Given the description of an element on the screen output the (x, y) to click on. 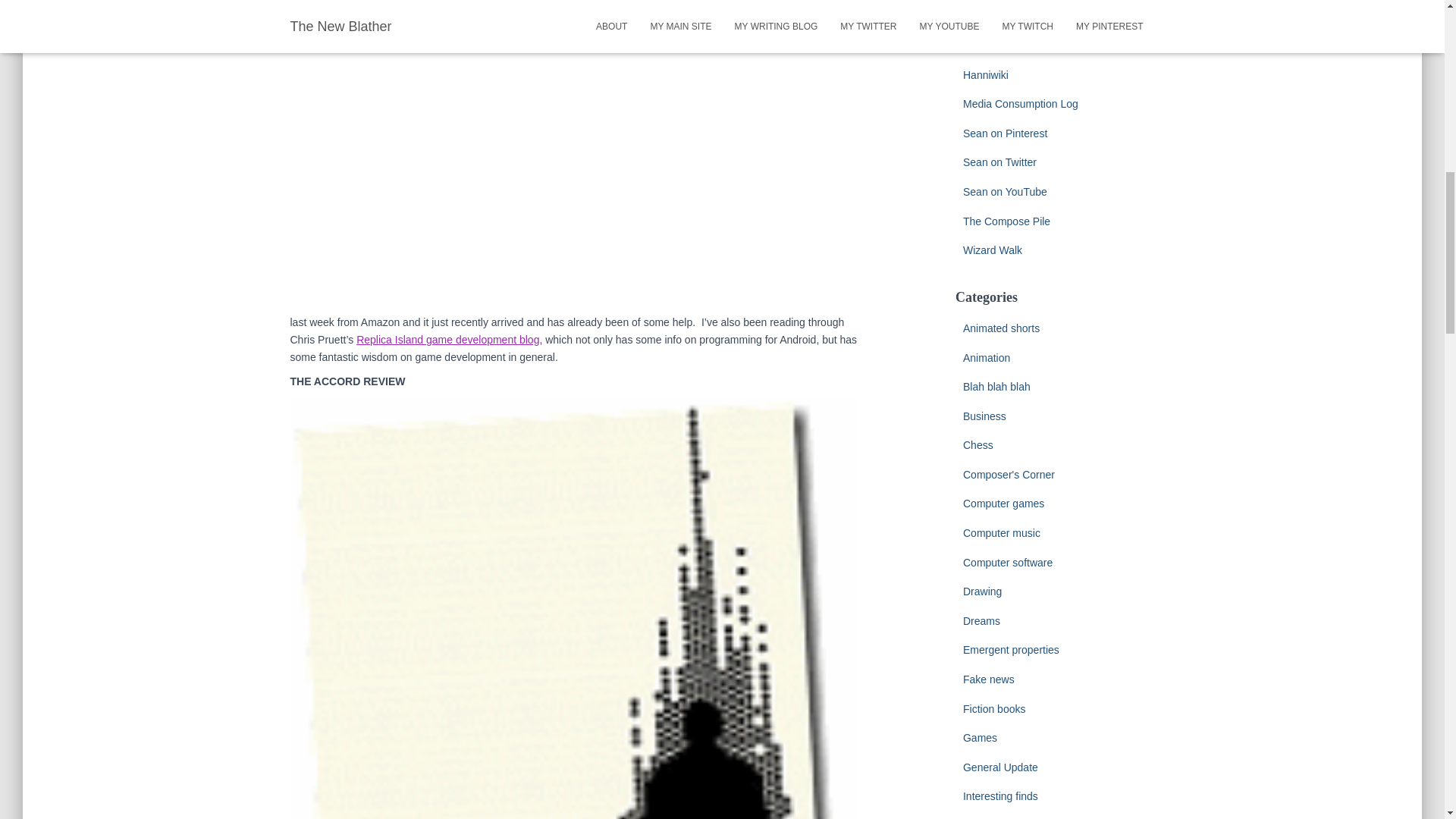
Catching a Dragon (1006, 15)
Computer music (1001, 532)
Blah blah blah (996, 386)
Animation (986, 357)
Composer's Corner (1008, 474)
Media Consumption Log (1020, 103)
The Compose Pile (1005, 221)
Chess (977, 444)
Wizard Walk (992, 250)
Replica Island game development blog (447, 339)
